Given the description of an element on the screen output the (x, y) to click on. 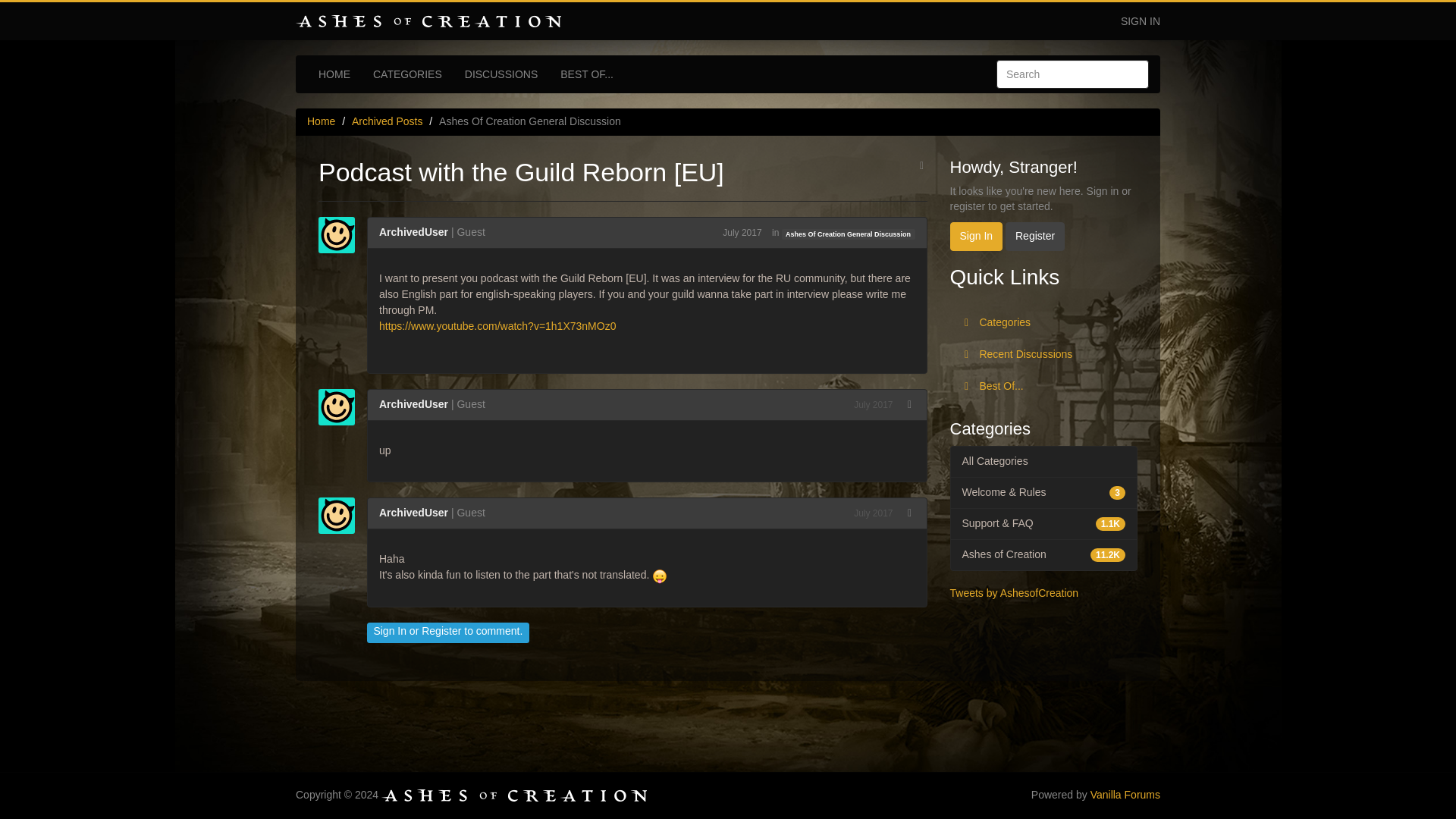
Register (441, 630)
DISCUSSIONS (500, 74)
Categories (1043, 322)
ArchivedUser (413, 232)
Register (1035, 235)
ArchivedUser (413, 512)
CATEGORIES (406, 74)
July 13, 2017 12:01AM (872, 512)
Best Of... (1043, 386)
ArchivedUser (413, 404)
Ashes Of Creation General Discussion (848, 234)
July 2017 (872, 404)
July 2017 (741, 232)
Tweets by AshesofCreation (1013, 592)
Archived Posts (387, 121)
